Given the description of an element on the screen output the (x, y) to click on. 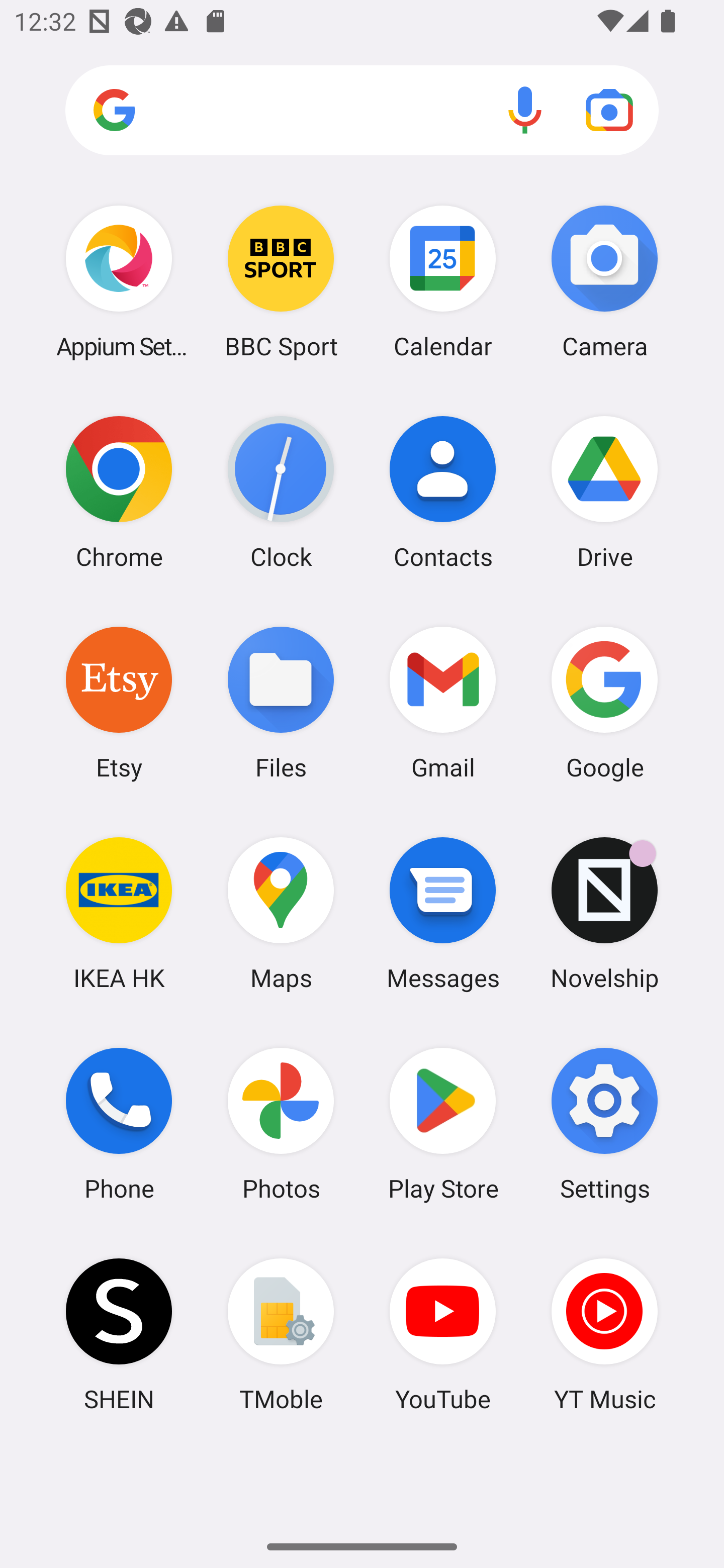
Search apps, web and more (361, 110)
Voice search (524, 109)
Google Lens (608, 109)
Appium Settings (118, 281)
BBC Sport (280, 281)
Calendar (443, 281)
Camera (604, 281)
Chrome (118, 492)
Clock (280, 492)
Contacts (443, 492)
Drive (604, 492)
Etsy (118, 702)
Files (280, 702)
Gmail (443, 702)
Google (604, 702)
IKEA HK (118, 913)
Maps (280, 913)
Messages (443, 913)
Novelship Novelship has 7 notifications (604, 913)
Phone (118, 1124)
Photos (280, 1124)
Play Store (443, 1124)
Settings (604, 1124)
SHEIN (118, 1334)
TMoble (280, 1334)
YouTube (443, 1334)
YT Music (604, 1334)
